Given the description of an element on the screen output the (x, y) to click on. 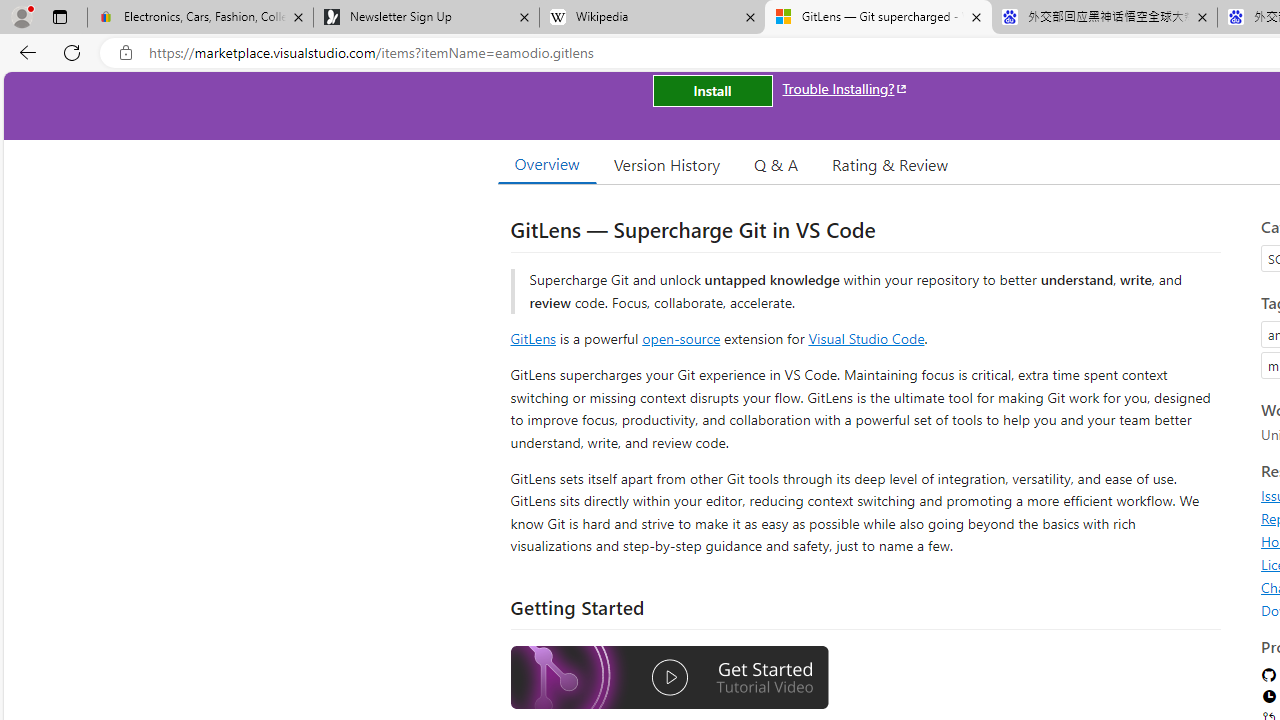
Watch the GitLens Getting Started video (669, 678)
GitLens (532, 337)
Wikipedia (652, 17)
open-source (681, 337)
Overview (546, 164)
Install (712, 90)
Q & A (776, 164)
Version History (667, 164)
